Given the description of an element on the screen output the (x, y) to click on. 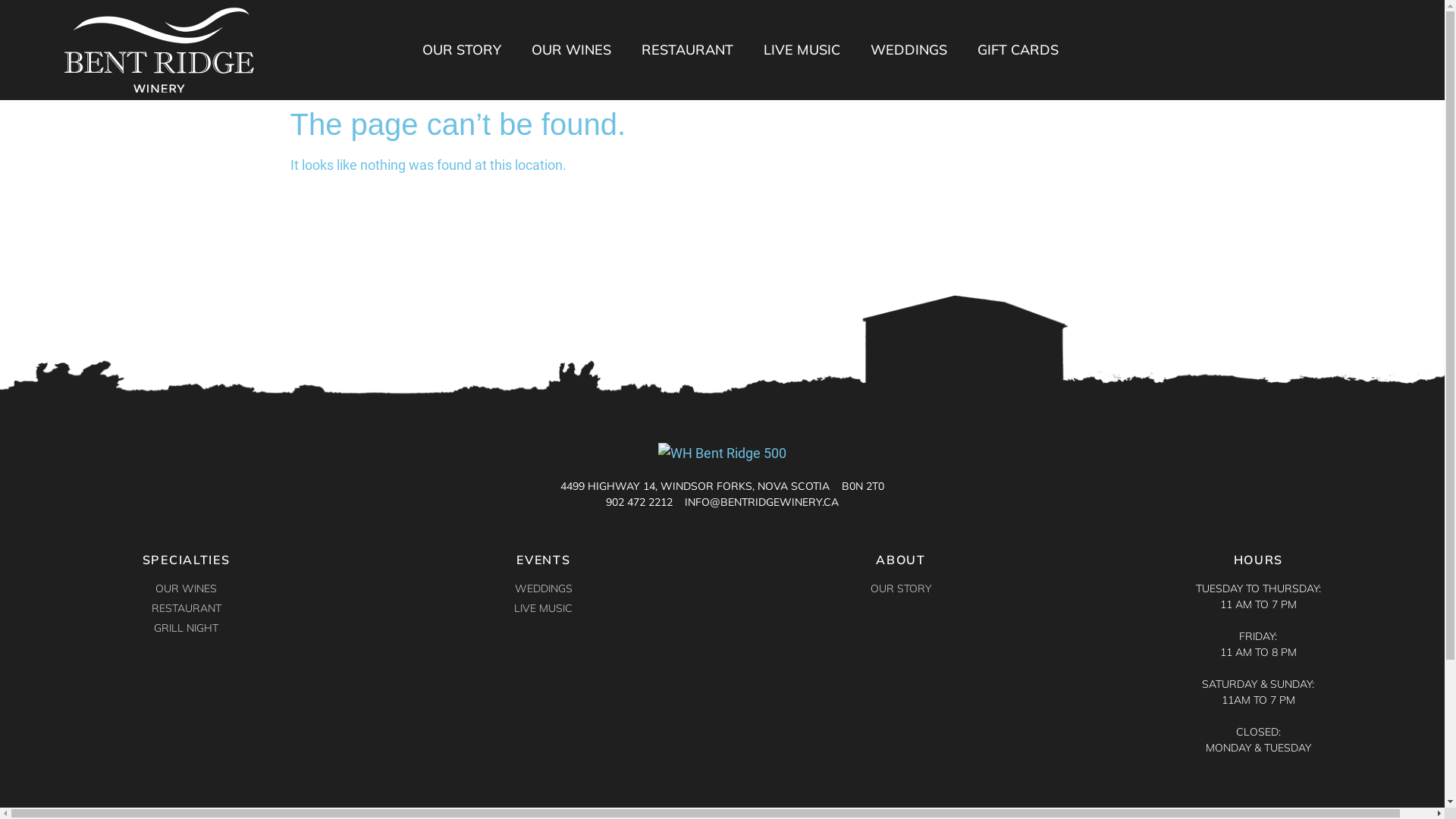
GIFT CARDS Element type: text (1017, 49)
OUR STORY Element type: text (461, 49)
WEDDINGS Element type: text (543, 588)
WH Bent Ridge 500 Element type: hover (722, 452)
WEDDINGS Element type: text (908, 49)
OUR WINES Element type: text (186, 588)
RESTAURANT Element type: text (687, 49)
OUR STORY Element type: text (900, 588)
GRILL NIGHT Element type: text (186, 628)
RESTAURANT Element type: text (186, 608)
LIVE MUSIC Element type: text (543, 608)
WH Bent Ridge 500 Element type: hover (159, 49)
OUR WINES Element type: text (571, 49)
LIVE MUSIC Element type: text (801, 49)
